Given the description of an element on the screen output the (x, y) to click on. 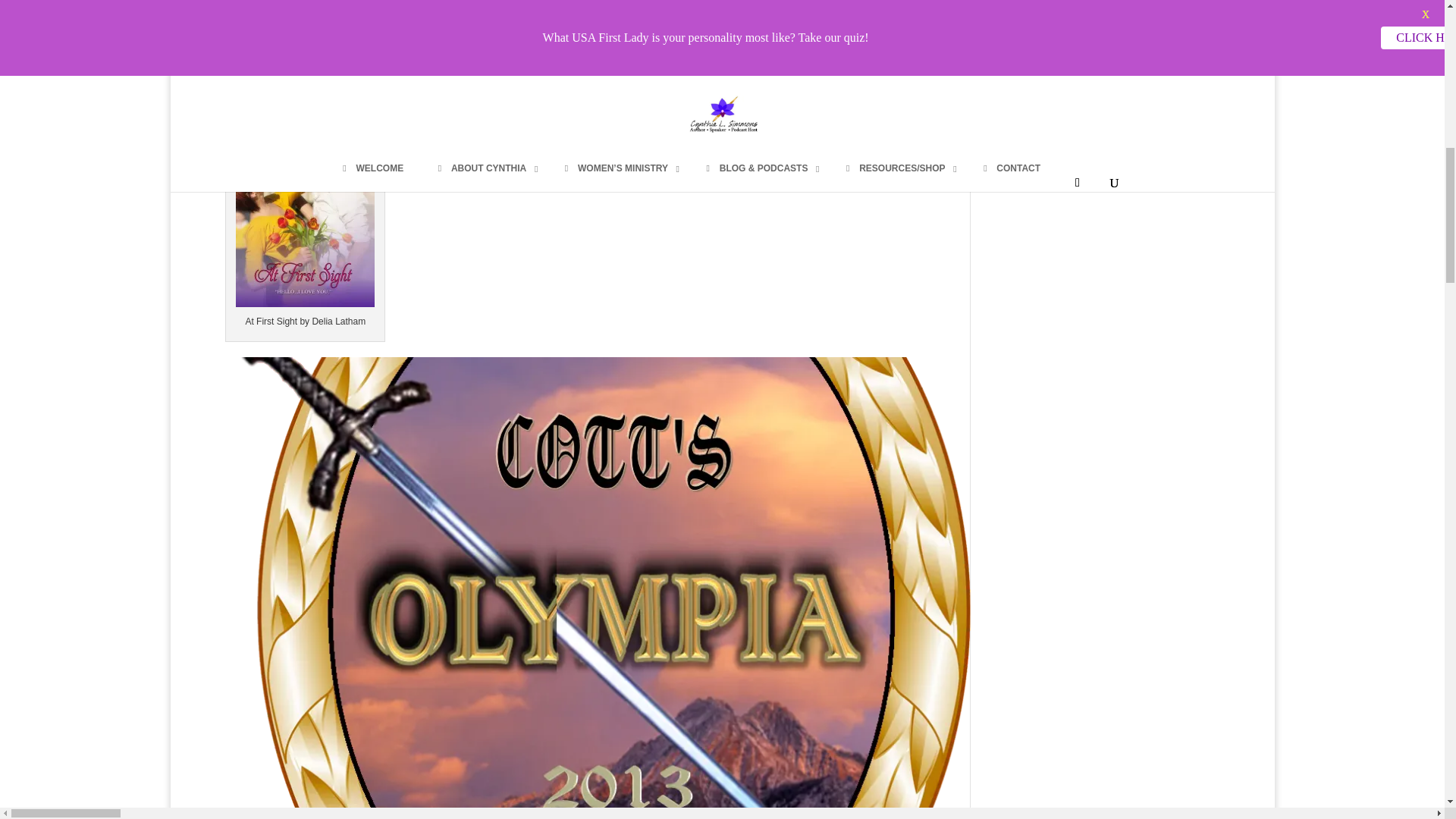
Enter email address (1348, 278)
Subscribe (1349, 326)
wpfruits (1373, 355)
